Given the description of an element on the screen output the (x, y) to click on. 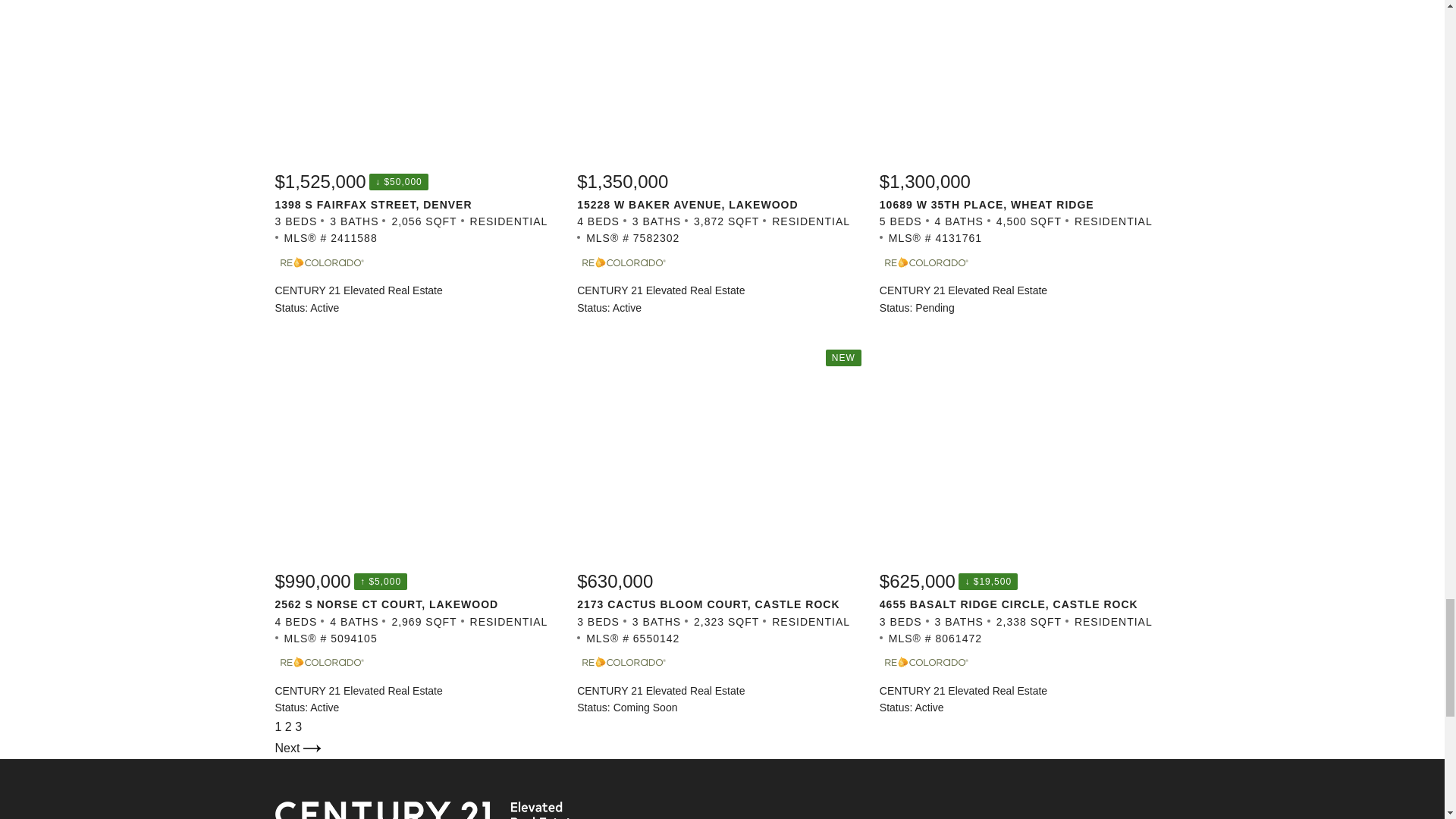
Current Page is 2 (290, 726)
Current Page is 3 (298, 726)
Next Page (297, 748)
Current Page is 1 (279, 726)
